Given the description of an element on the screen output the (x, y) to click on. 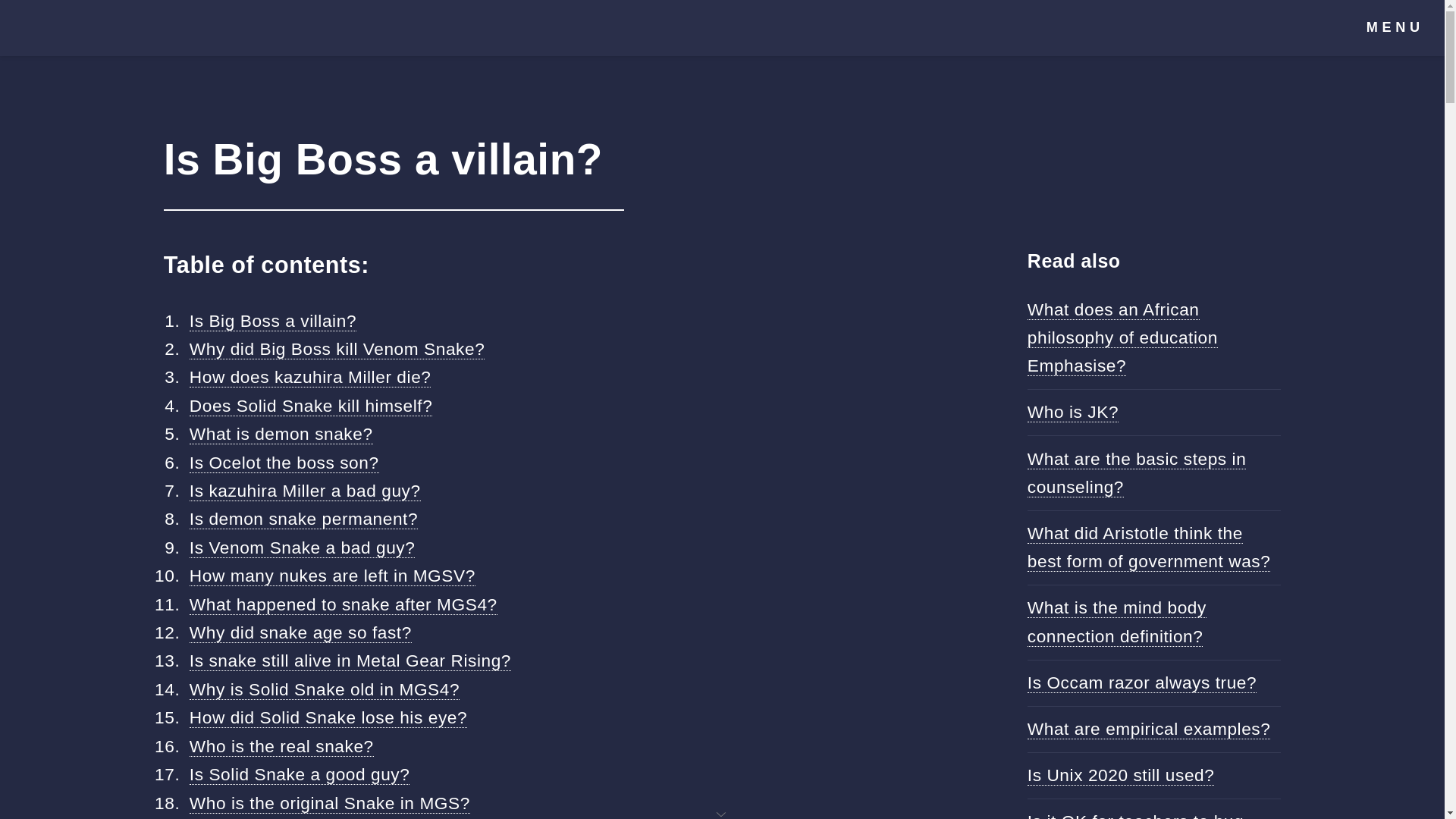
Is kazuhira Miller a bad guy? (304, 490)
What is the mind body connection definition? (1117, 621)
How many nukes are left in MGSV? (332, 575)
What are the basic steps in counseling? (1136, 472)
Who is the original Snake in MGS? (329, 803)
What happened to snake after MGS4? (343, 604)
How does kazuhira Miller die? (309, 376)
Ad.Plus Advertising (722, 813)
Is snake still alive in Metal Gear Rising? (350, 660)
Is Unix 2020 still used? (1120, 774)
What is demon snake? (280, 434)
Is Venom Snake a bad guy? (301, 547)
What did Aristotle think the best form of government was? (1149, 547)
How did Solid Snake lose his eye? (328, 717)
Is demon snake permanent? (303, 518)
